Given the description of an element on the screen output the (x, y) to click on. 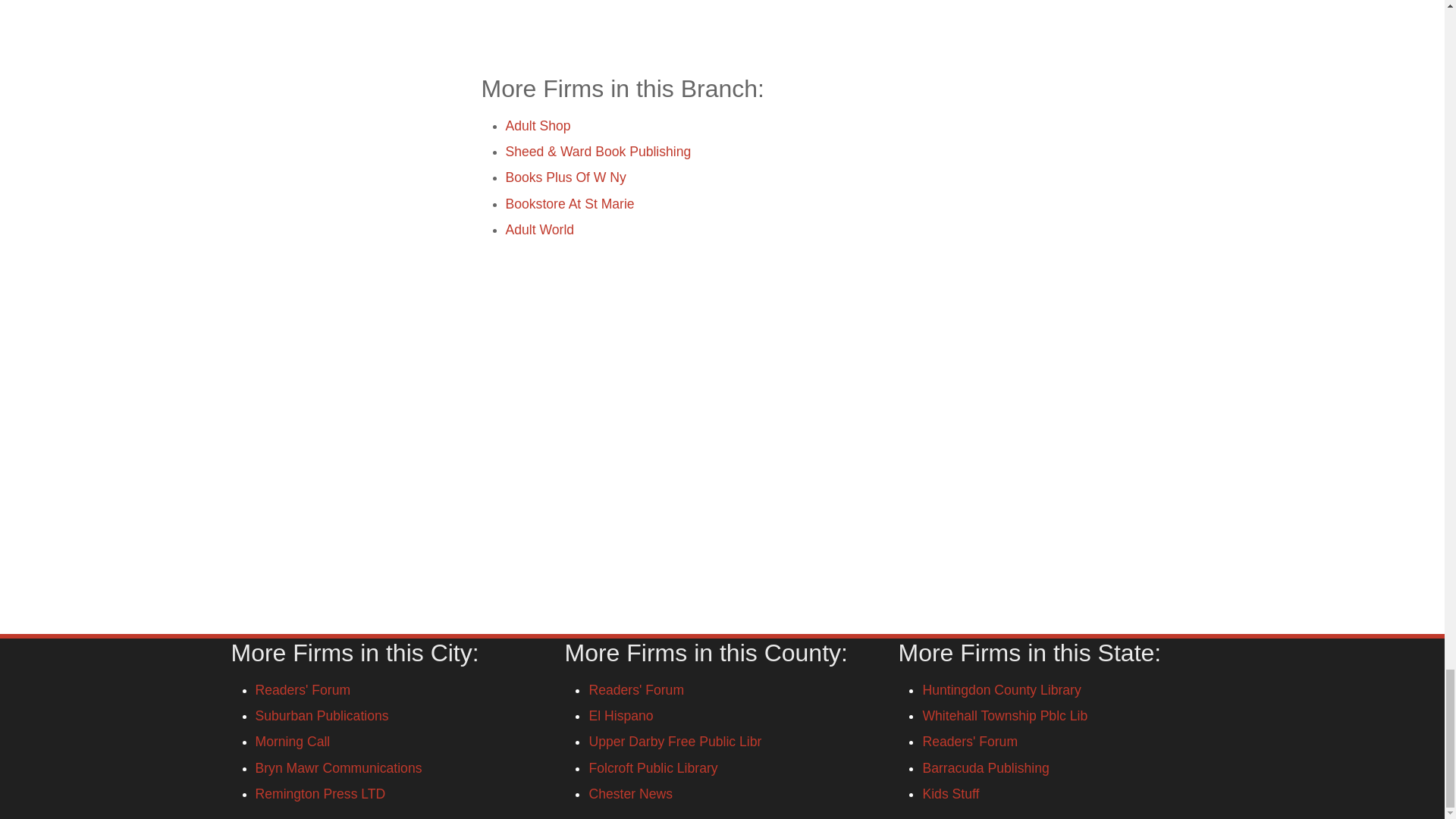
Bookstore At St Marie (569, 203)
Adult Shop (537, 125)
Books Plus Of W Ny (565, 177)
Adult World (539, 229)
